Given the description of an element on the screen output the (x, y) to click on. 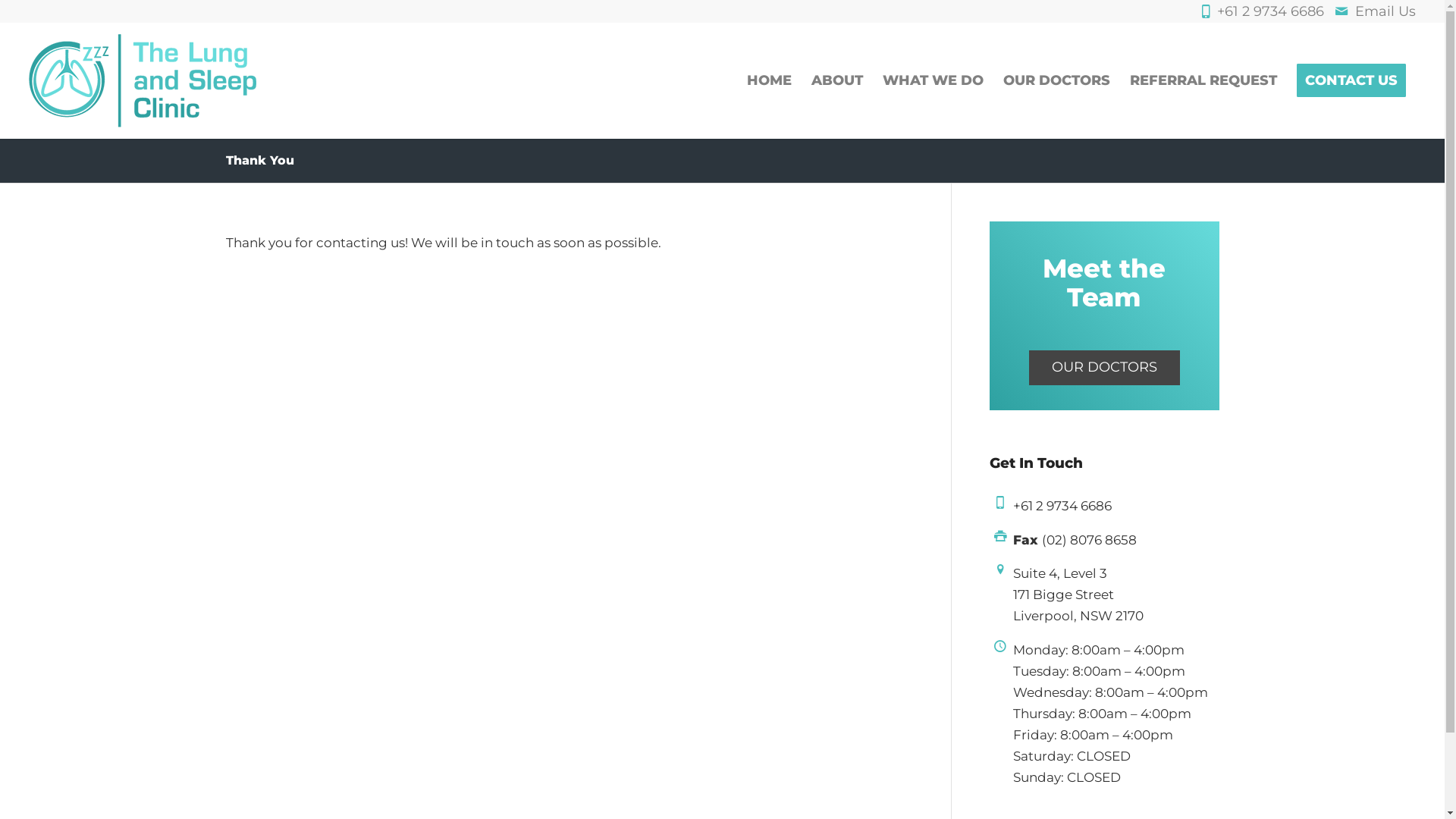
+61 2 9734 6686 Element type: text (1274, 11)
Thank You Element type: text (259, 160)
HOME Element type: text (769, 80)
WHAT WE DO Element type: text (932, 80)
+61 2 9734 6686 Element type: text (1062, 505)
OUR DOCTORS Element type: text (1104, 367)
CONTACT US Element type: text (1350, 80)
Email Us Element type: text (1385, 11)
logo Element type: hover (142, 80)
REFERRAL REQUEST Element type: text (1203, 80)
ABOUT Element type: text (836, 80)
OUR DOCTORS Element type: text (1056, 80)
